Given the description of an element on the screen output the (x, y) to click on. 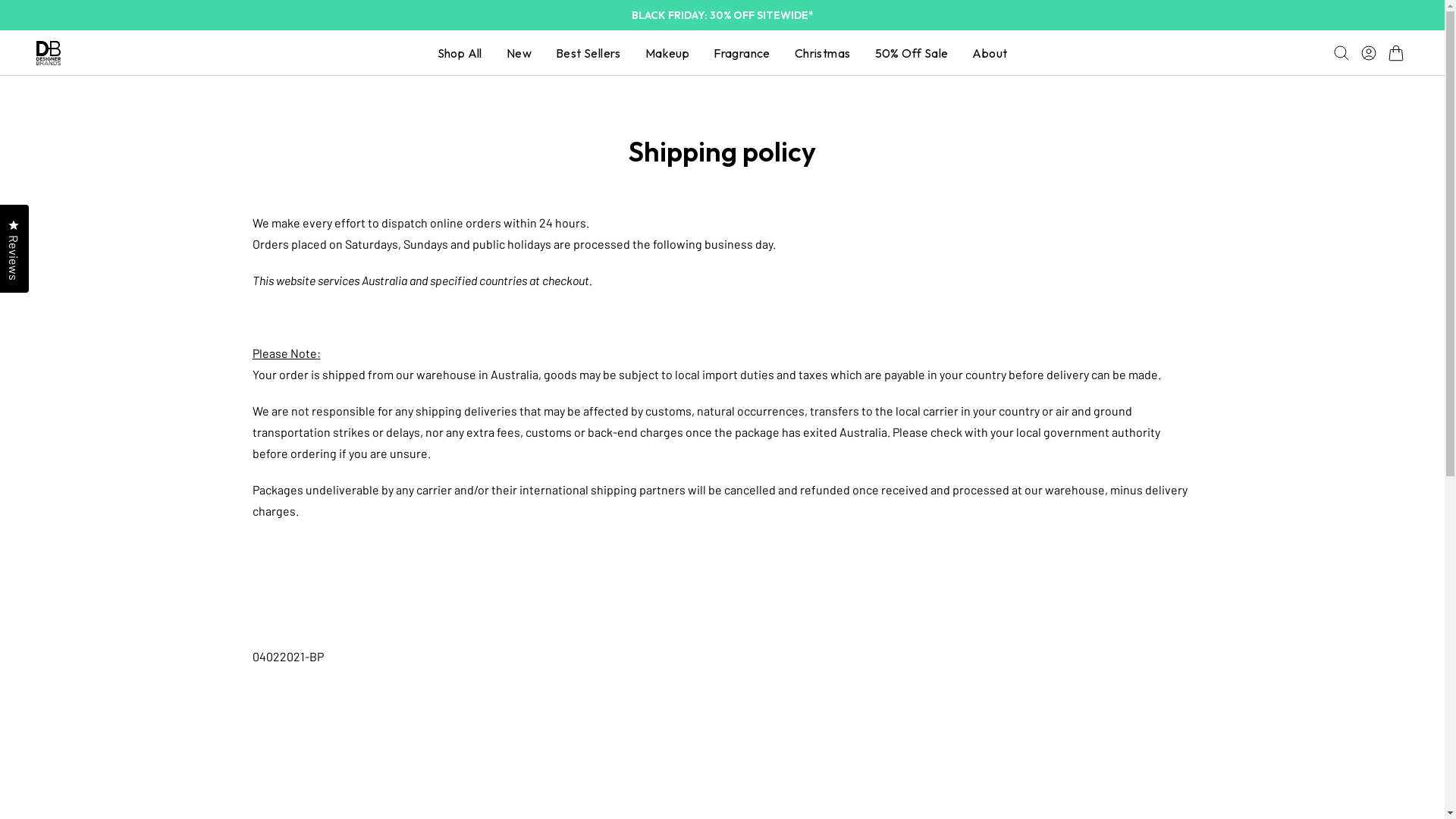
50% Off Sale Element type: text (911, 53)
BLACK FRIDAY: 30% OFF SITEWIDE* Element type: text (722, 15)
Makeup Element type: text (667, 53)
Cart Element type: text (1395, 52)
Shop All Element type: text (459, 53)
About Element type: text (989, 53)
Log in Element type: text (1368, 52)
Christmas Element type: text (822, 53)
DB Cosmetics Element type: text (48, 52)
Fragrance Element type: text (741, 53)
New Element type: text (518, 53)
Best Sellers Element type: text (588, 53)
